Given the description of an element on the screen output the (x, y) to click on. 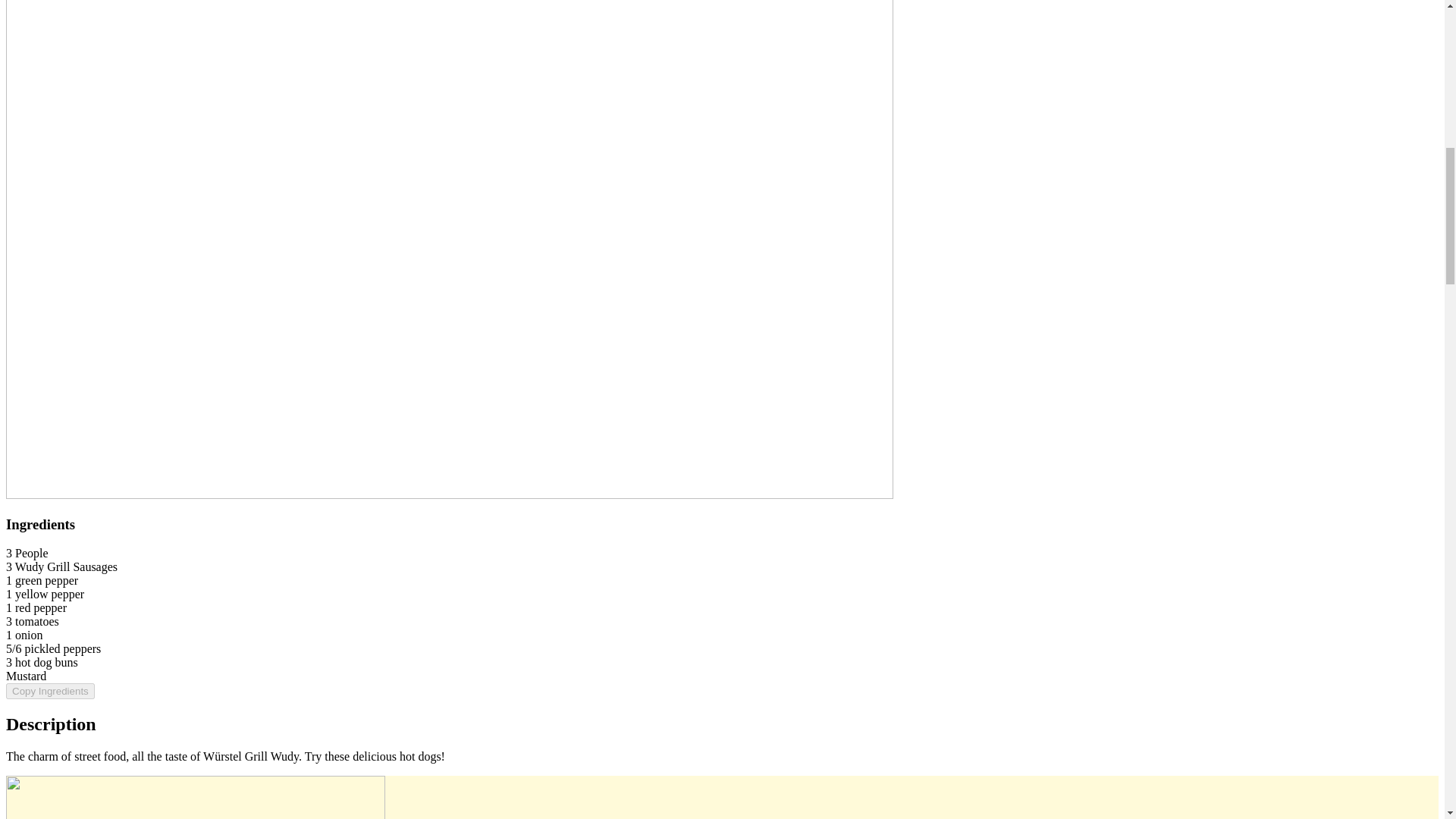
Copy Ingredients (49, 691)
